Given the description of an element on the screen output the (x, y) to click on. 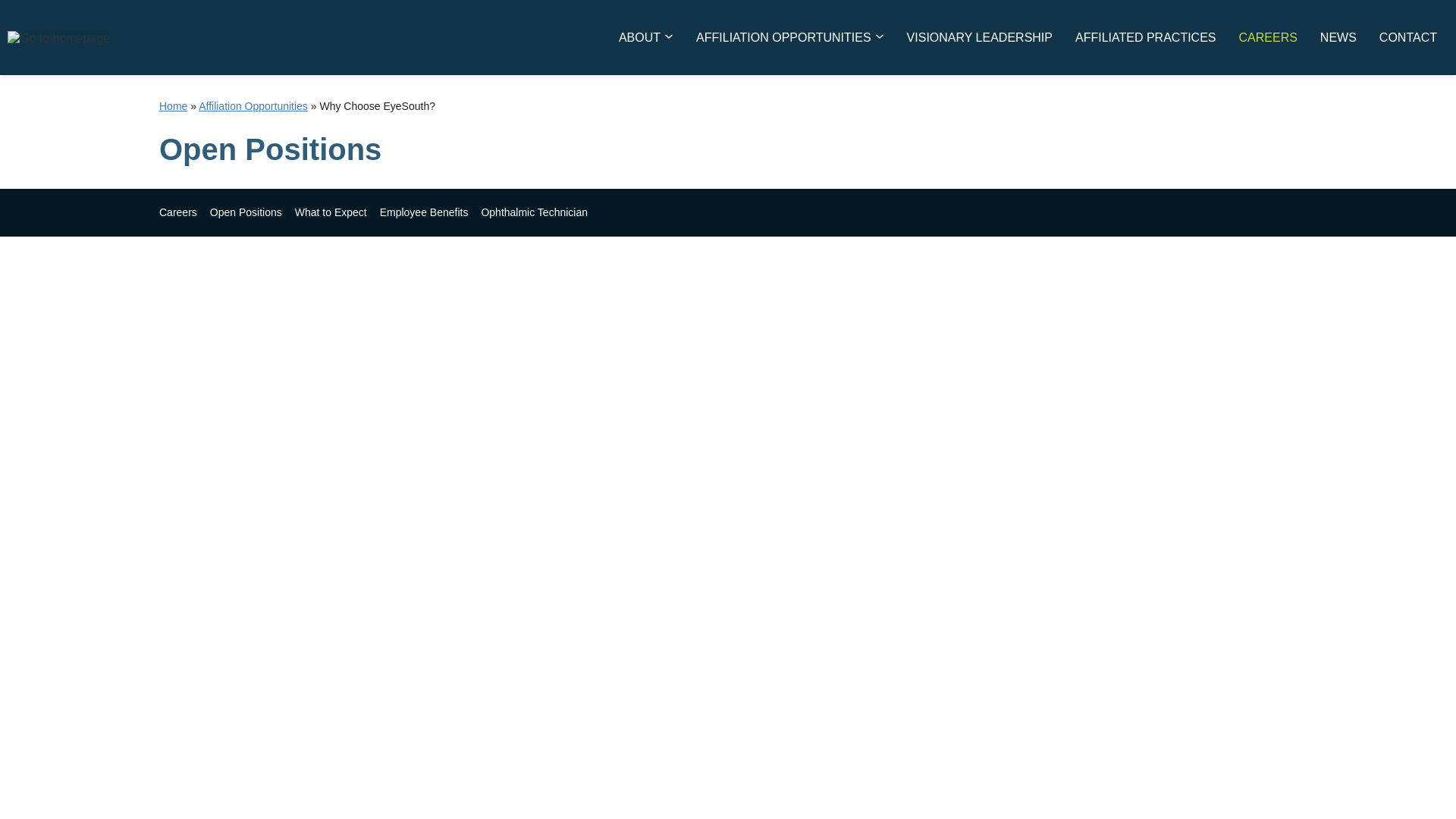
CONTACT (1408, 37)
Open Positions (245, 212)
What to Expect (330, 212)
Home (172, 105)
NEWS (1338, 37)
Affiliation Opportunities (252, 105)
CAREERS (1267, 37)
Careers (177, 212)
ABOUT (645, 37)
AFFILIATION OPPORTUNITIES (789, 37)
